Given the description of an element on the screen output the (x, y) to click on. 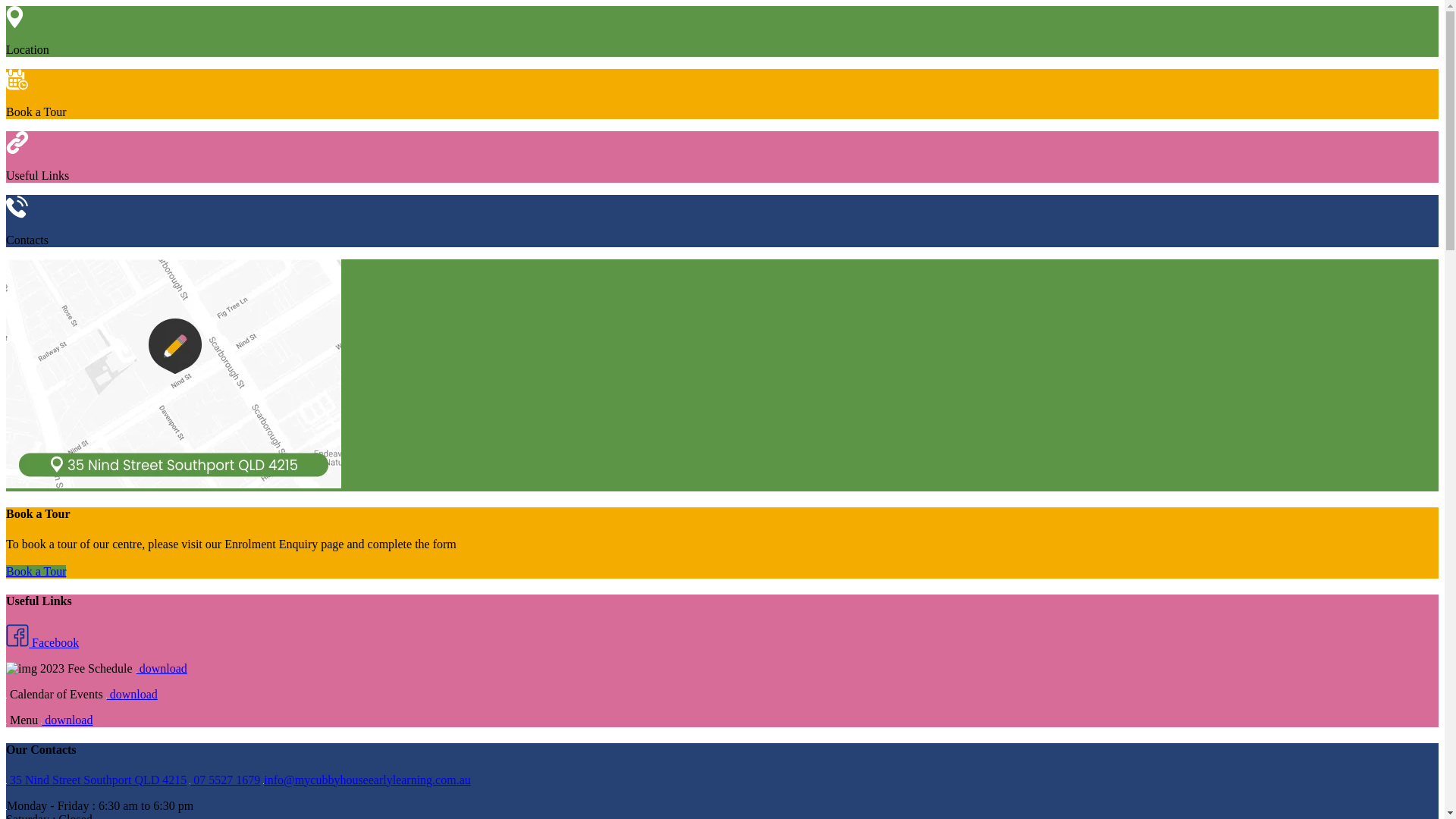
07 5527 1679 Element type: text (224, 779)
download Element type: text (131, 693)
Facebook Element type: text (42, 642)
Book a Tour Element type: text (35, 570)
download Element type: text (161, 668)
35 Nind Street Southport QLD 4215 Element type: text (96, 779)
info@mycubbyhouseearlylearning.com.au Element type: text (366, 779)
download Element type: text (66, 719)
